Given the description of an element on the screen output the (x, y) to click on. 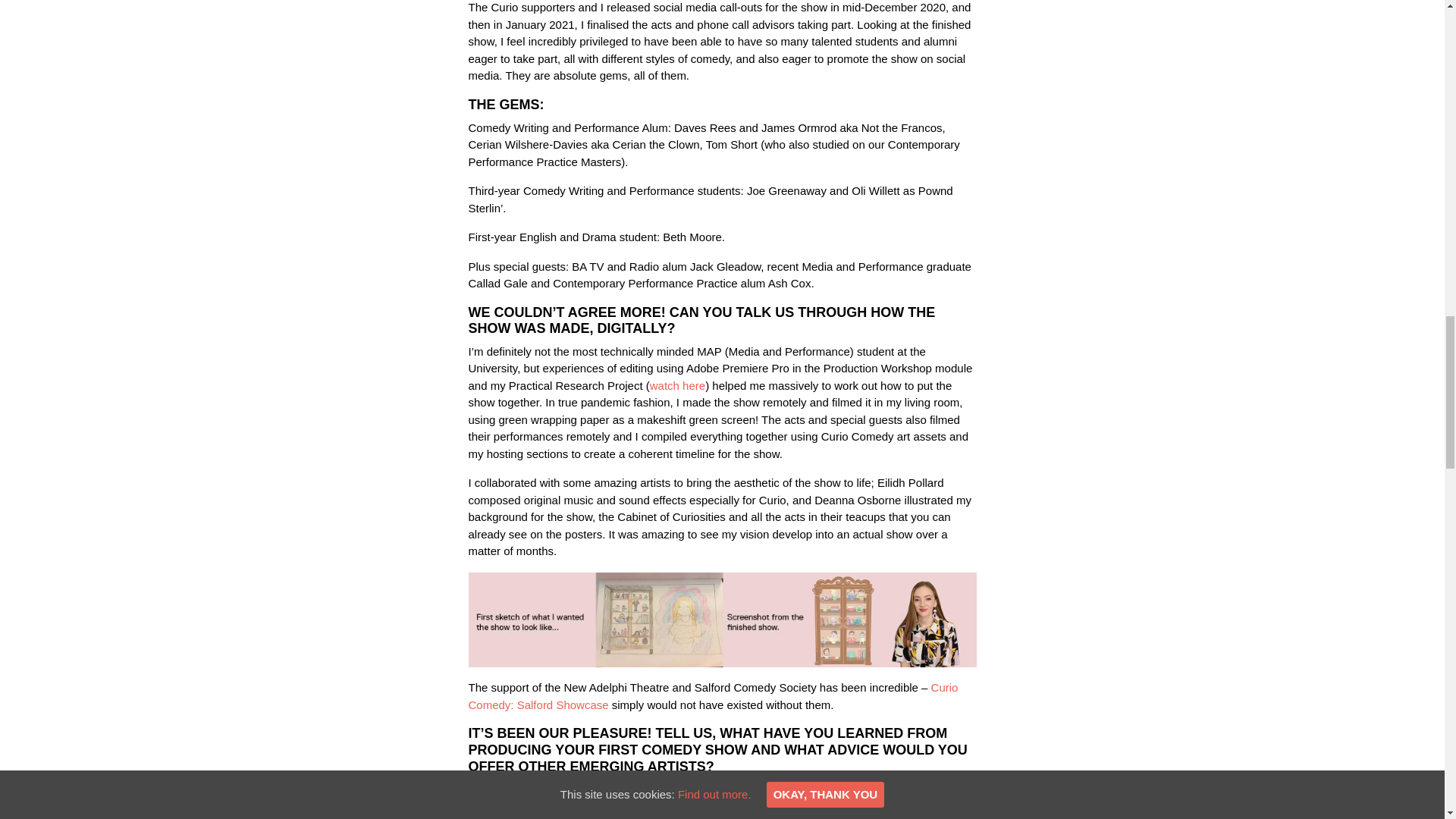
watch here (676, 385)
Curio Comedy: Salford Showcase (713, 695)
